Given the description of an element on the screen output the (x, y) to click on. 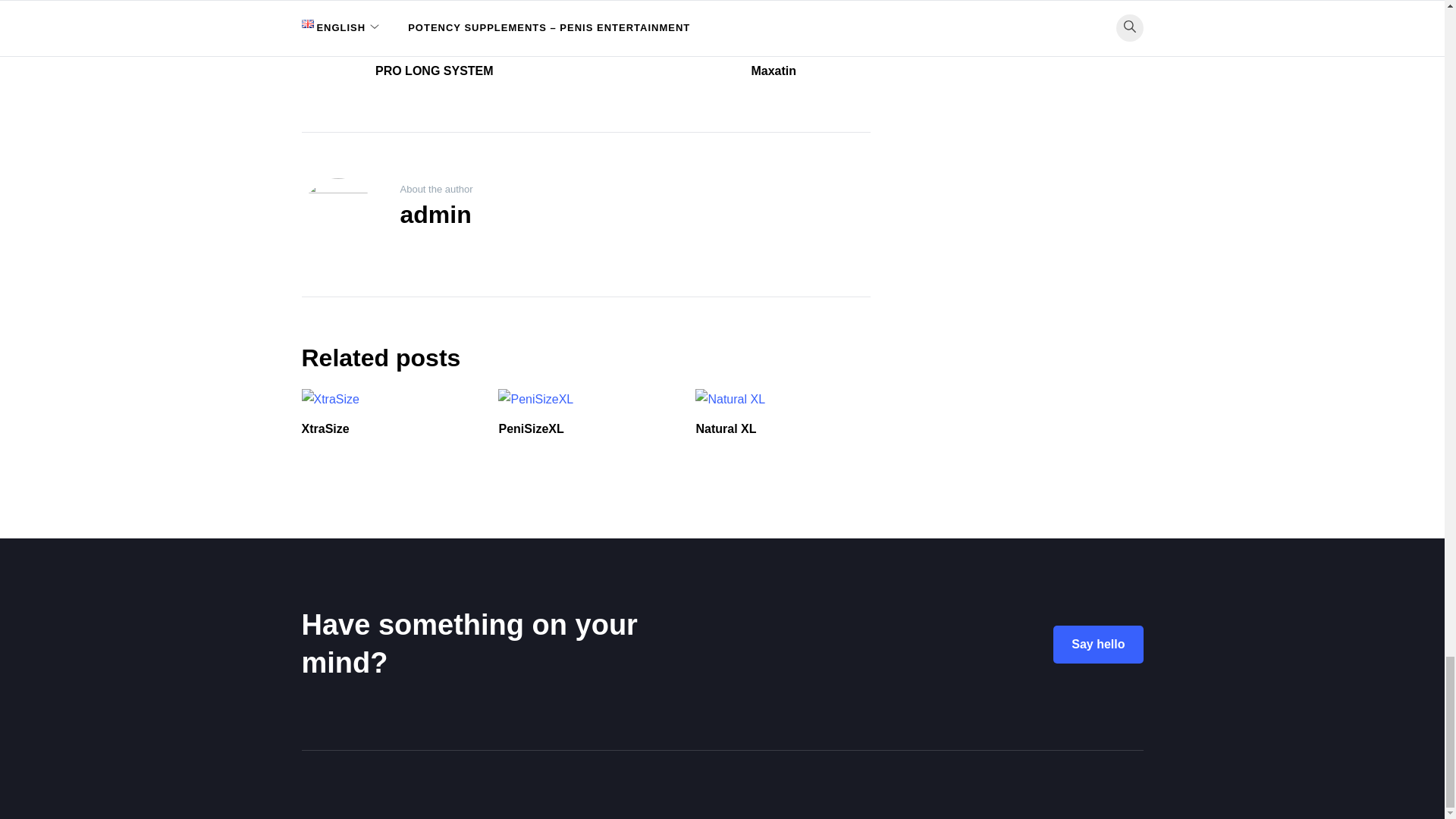
Say hello (1097, 644)
